Given the description of an element on the screen output the (x, y) to click on. 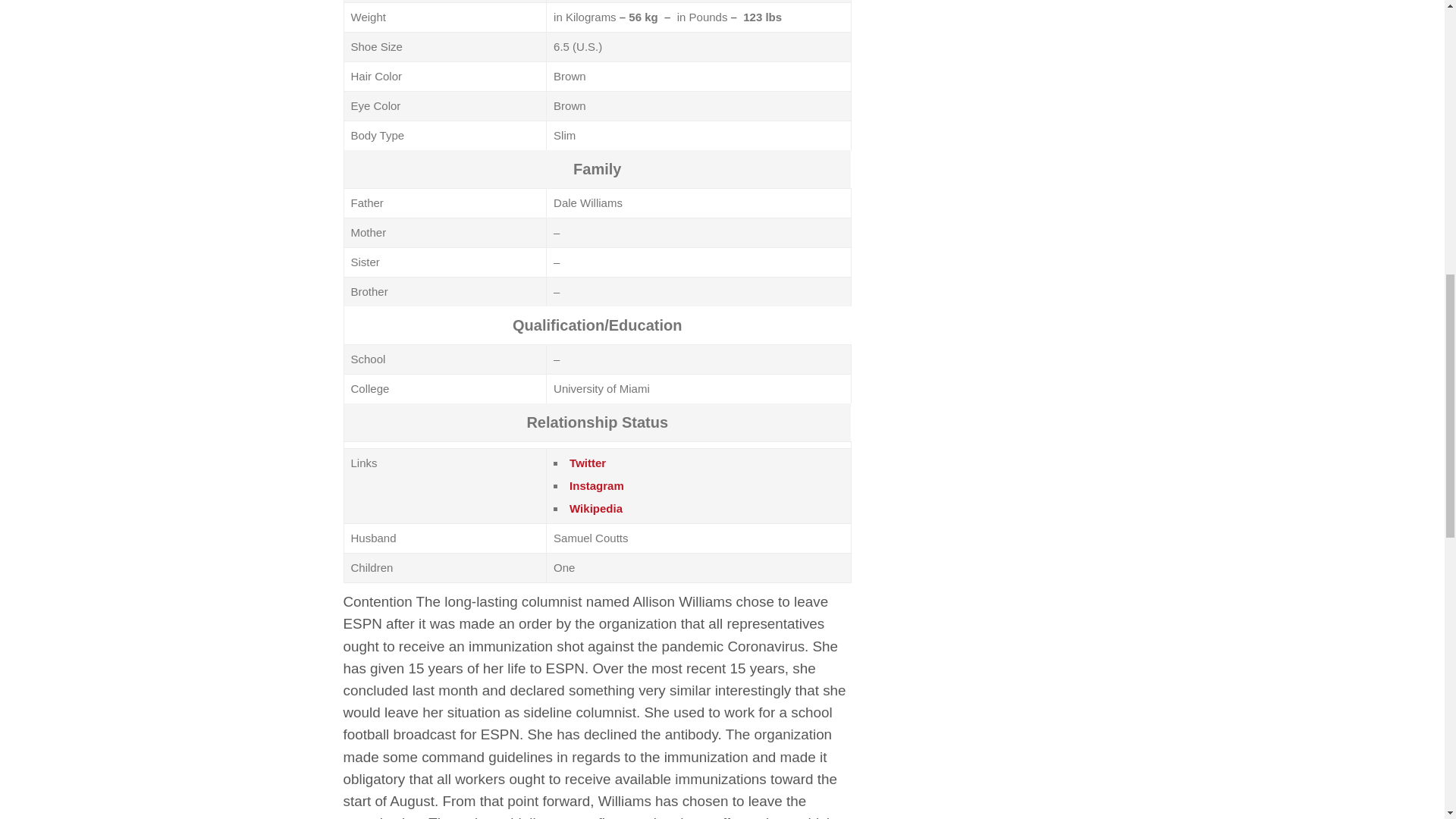
Twitter (587, 462)
Wikipedia (596, 508)
Instagram (596, 485)
